Given the description of an element on the screen output the (x, y) to click on. 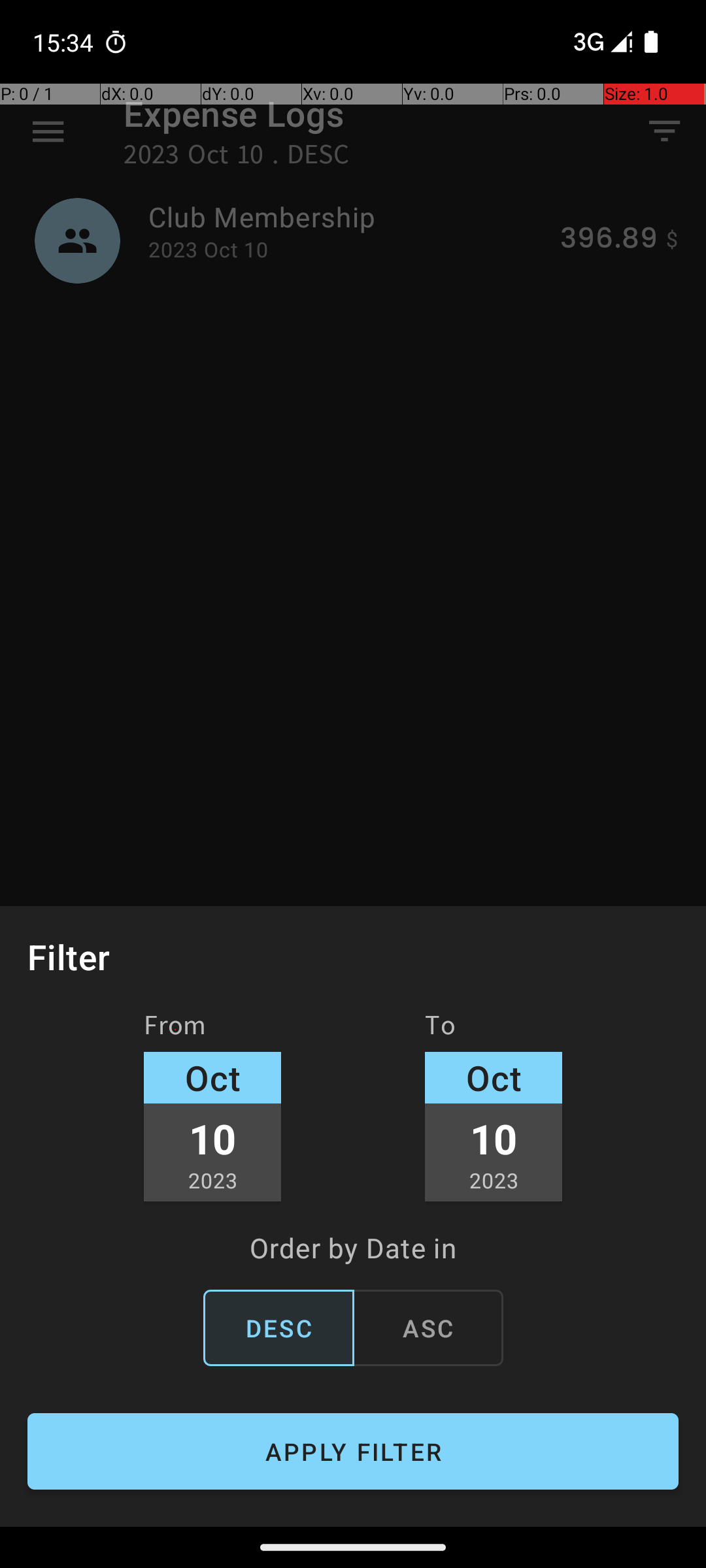
From Element type: android.widget.TextView (174, 1029)
To Element type: android.widget.TextView (439, 1029)
Order by Date in Element type: android.widget.TextView (352, 1247)
APPLY FILTER Element type: android.widget.Button (352, 1451)
DESC Element type: android.widget.CompoundButton (278, 1327)
ASC Element type: android.widget.CompoundButton (427, 1327)
